Given the description of an element on the screen output the (x, y) to click on. 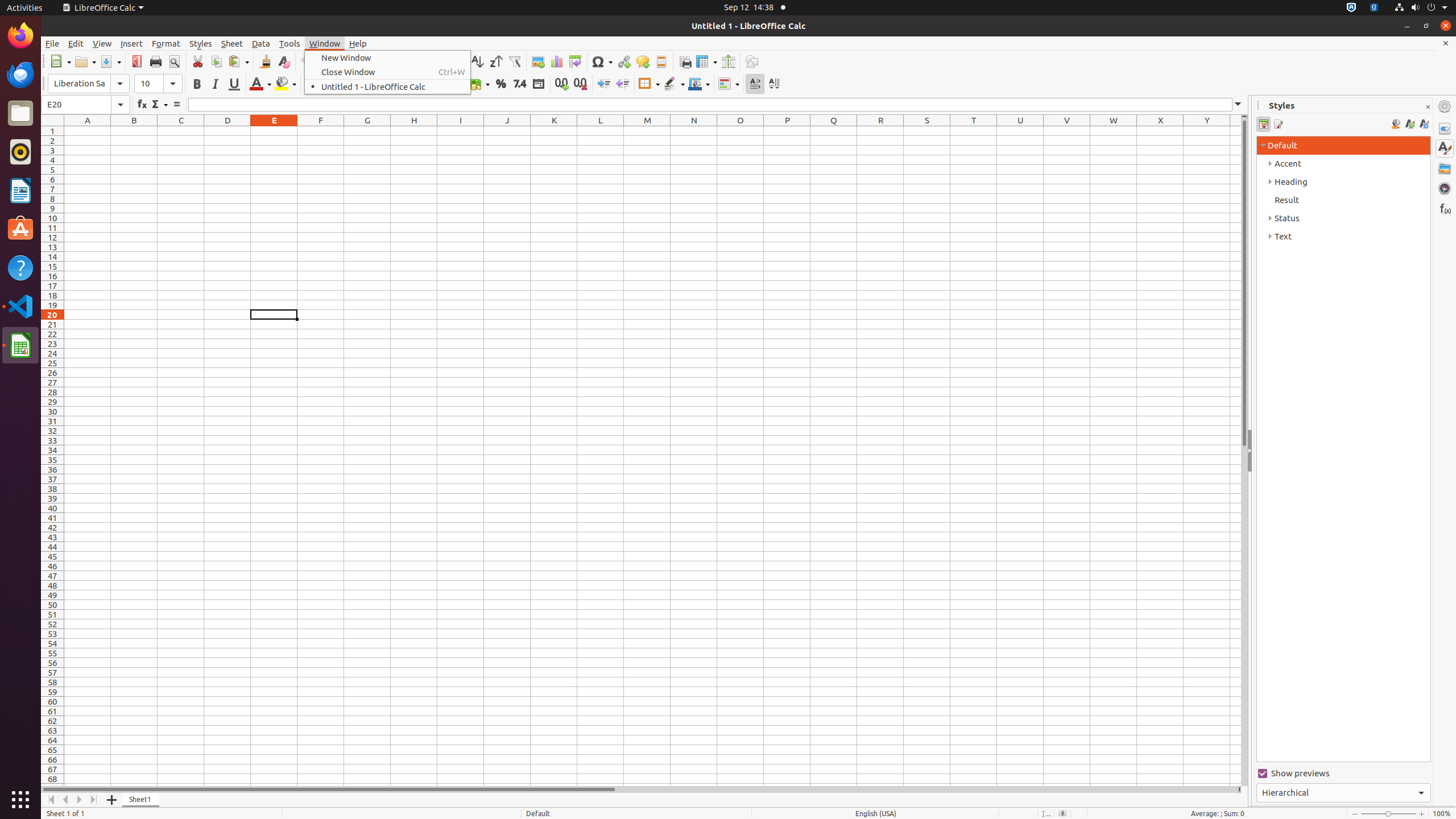
Data Element type: menu (260, 43)
Styles Element type: radio-button (1444, 148)
PDF Element type: push-button (136, 61)
Gallery Element type: radio-button (1444, 168)
Border Color Element type: push-button (698, 83)
